Given the description of an element on the screen output the (x, y) to click on. 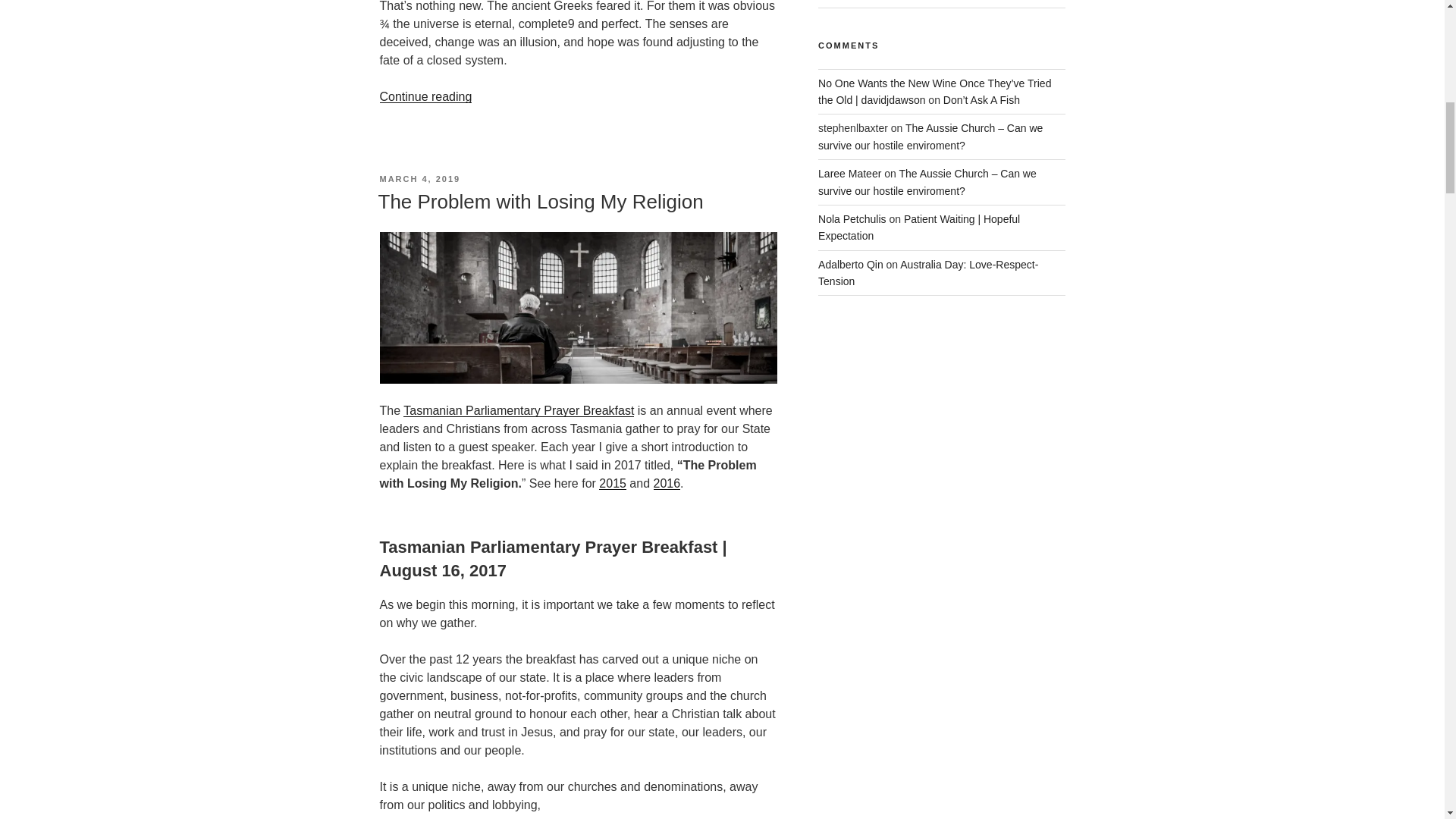
MARCH 4, 2019 (419, 178)
2016 (667, 482)
The Problem with Losing My Religion (540, 201)
Tasmanian Parliamentary Prayer Breakfast (518, 410)
2015 (612, 482)
